Given the description of an element on the screen output the (x, y) to click on. 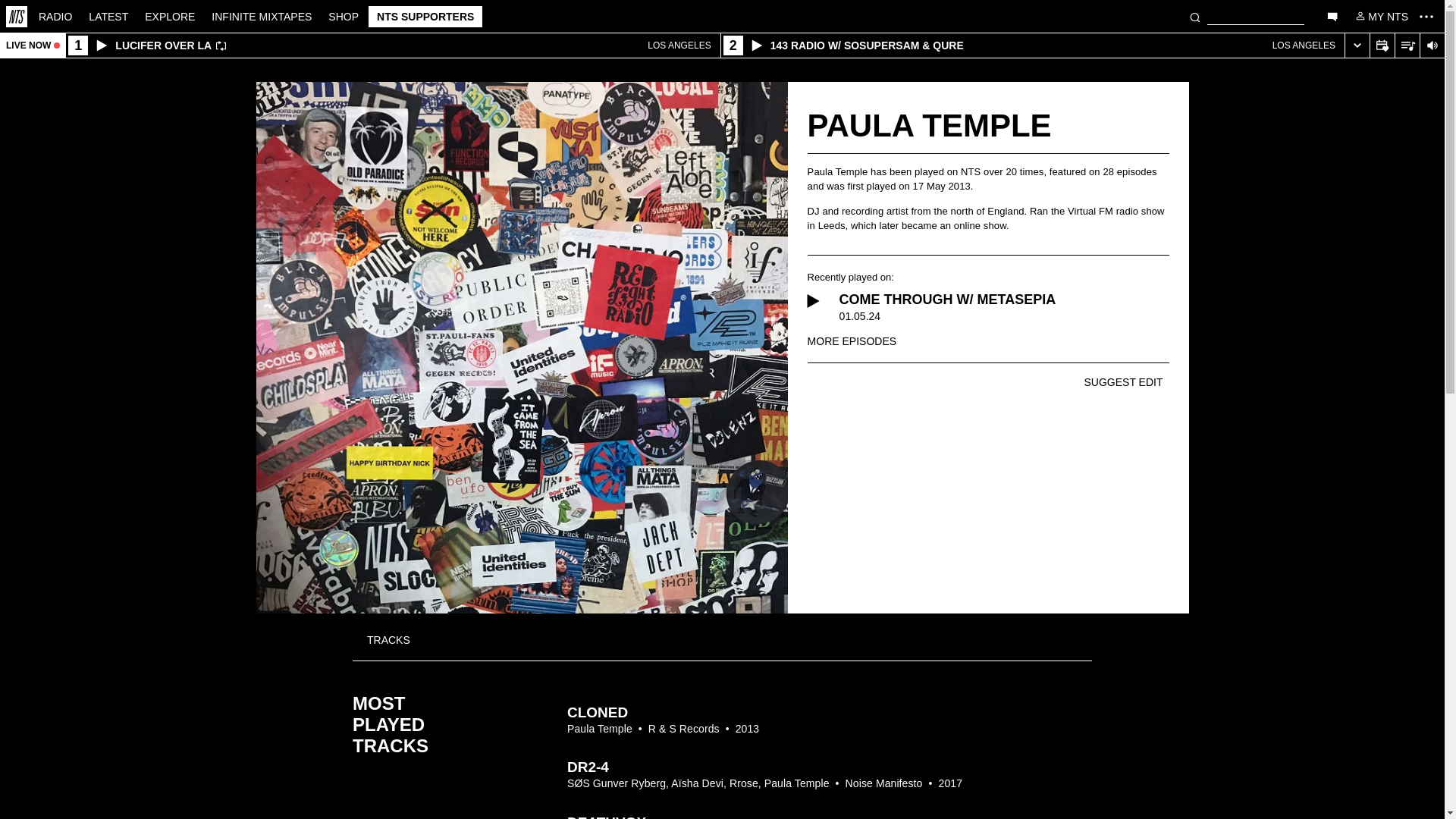
Toggle navigation menu (1425, 16)
MY NTS (1380, 15)
LATEST (392, 45)
INFINITE MIXTAPES (108, 15)
EXPLORE (261, 15)
NTS SUPPORTERS (169, 15)
SHOP (424, 16)
RADIO (343, 15)
